Given the description of an element on the screen output the (x, y) to click on. 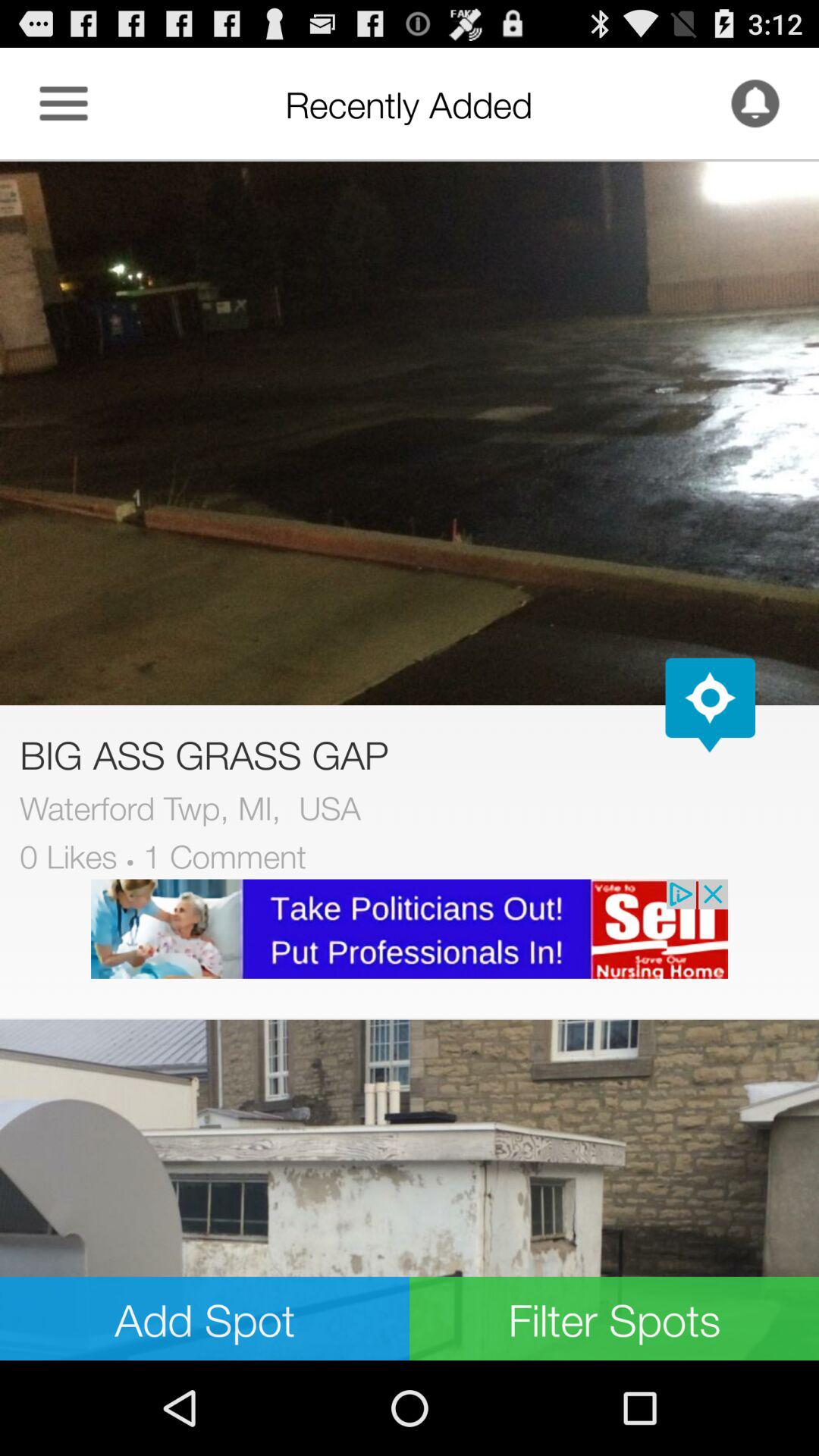
select image (409, 1189)
